Given the description of an element on the screen output the (x, y) to click on. 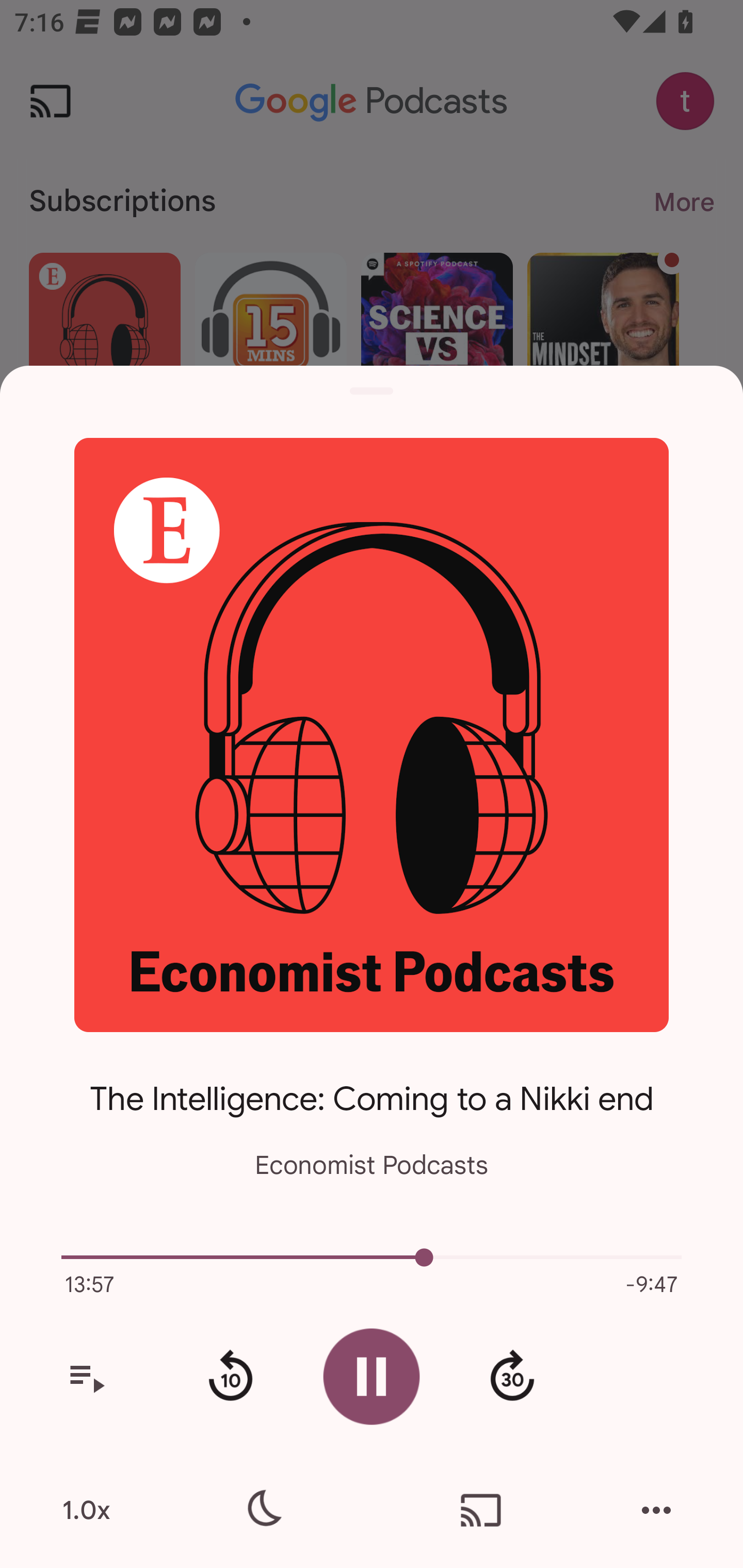
Open the show page for Economist Podcasts (371, 734)
5875.0 Current episode playback (371, 1257)
Pause (371, 1376)
View your queue (86, 1376)
Rewind 10 seconds (230, 1376)
Fast forward 30 second (511, 1376)
1.0x Playback speed is 1.0. (86, 1510)
Sleep timer settings (261, 1510)
Cast. Disconnected (480, 1510)
More actions (655, 1510)
